Given the description of an element on the screen output the (x, y) to click on. 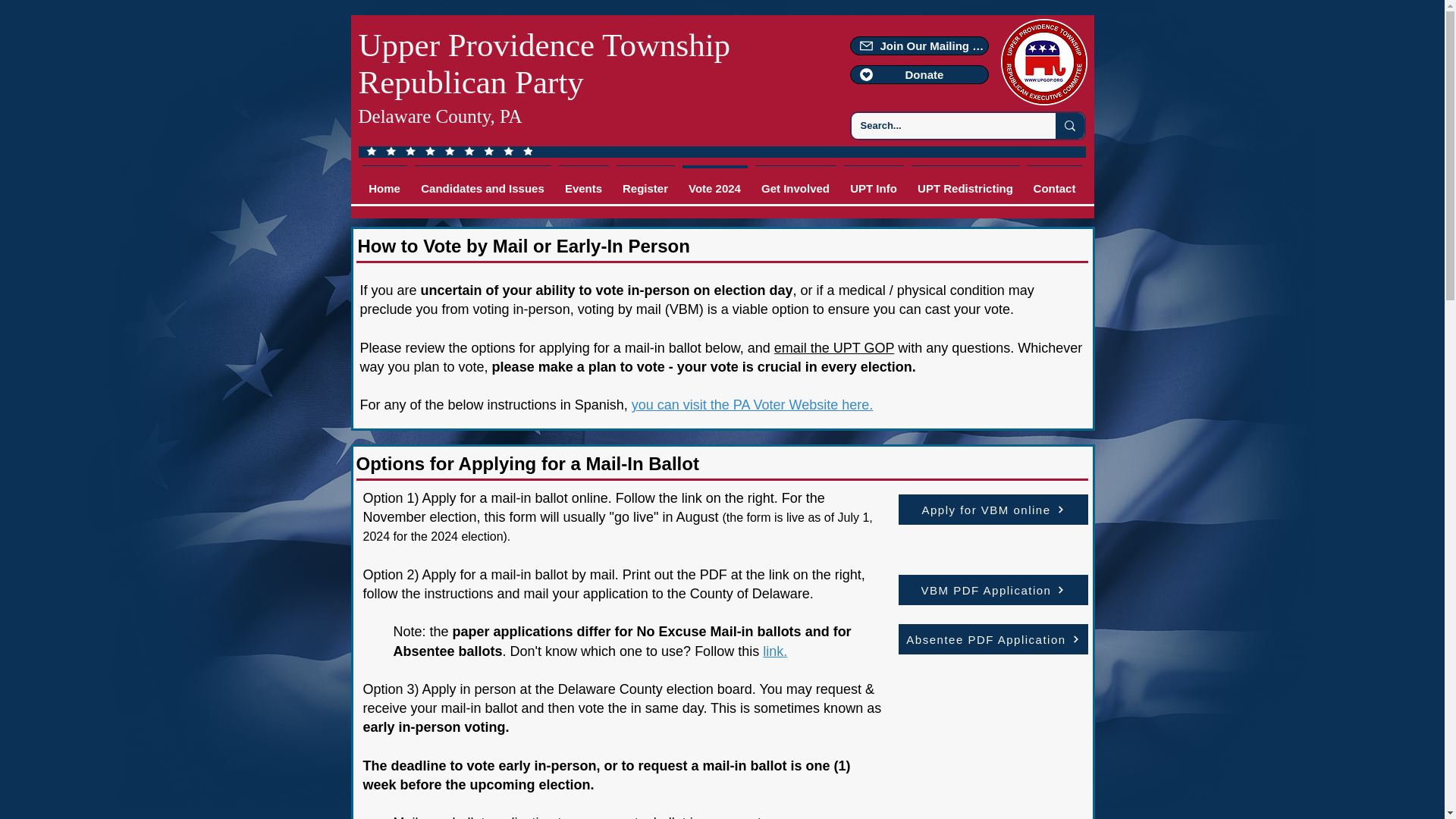
Get Involved (795, 182)
Home (384, 182)
link. (774, 650)
Apply for VBM online (992, 509)
Donate (918, 74)
VBM PDF Application (992, 589)
Candidates and Issues (482, 182)
Vote 2024 (714, 182)
Delaware County, PA (439, 116)
Picture4.png (1044, 61)
Contact (1054, 182)
Absentee PDF Application (992, 639)
you can visit the PA Voter Website here. (752, 404)
Register (645, 182)
Events (583, 182)
